Given the description of an element on the screen output the (x, y) to click on. 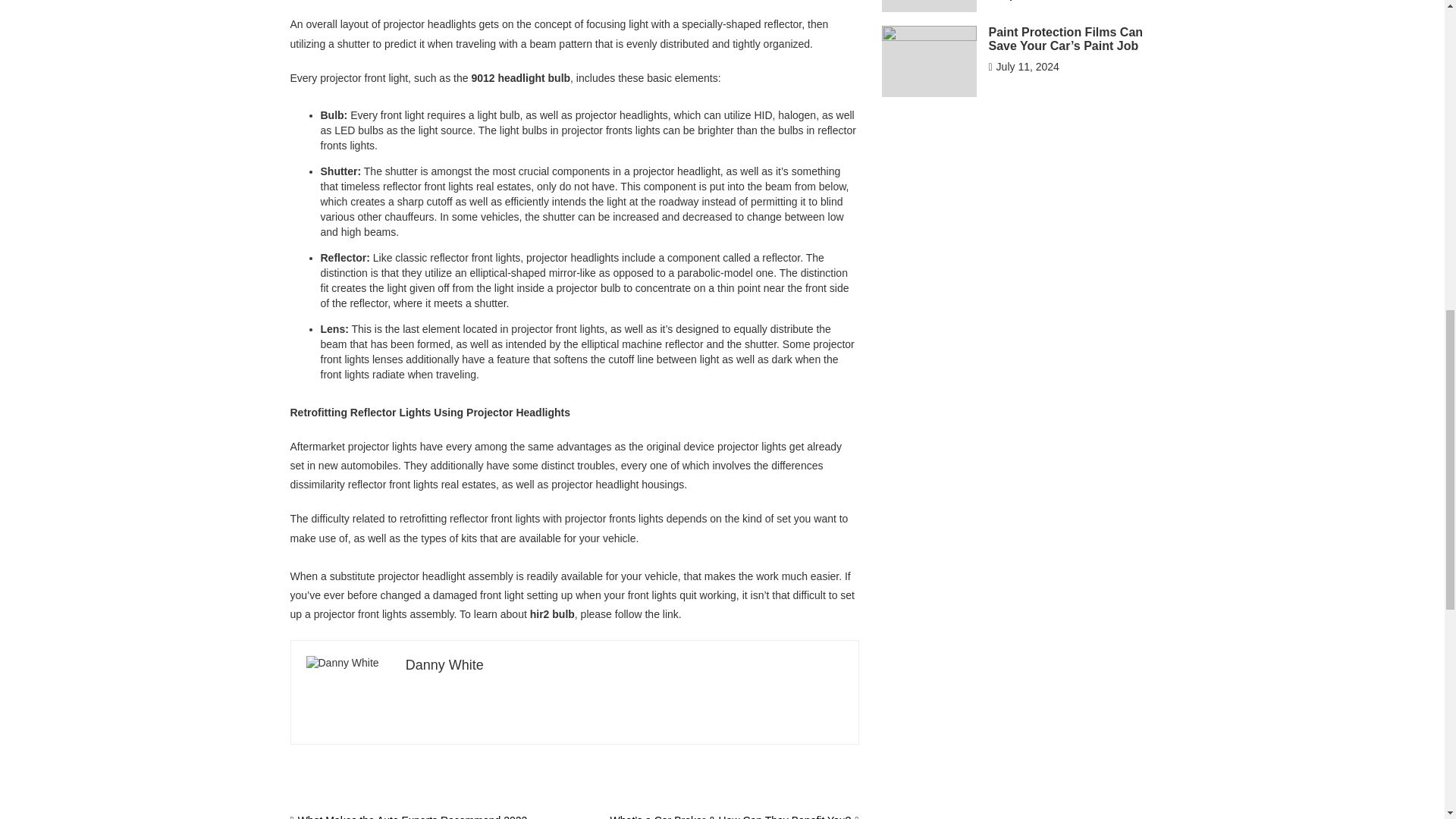
What Makes the Auto Experts Recommend 2022 Chevrolet Tahoe? (408, 816)
hir2 bulb (552, 613)
9012 headlight bulb (520, 78)
Danny White (444, 664)
July 12, 2024 (1023, 0)
